Given the description of an element on the screen output the (x, y) to click on. 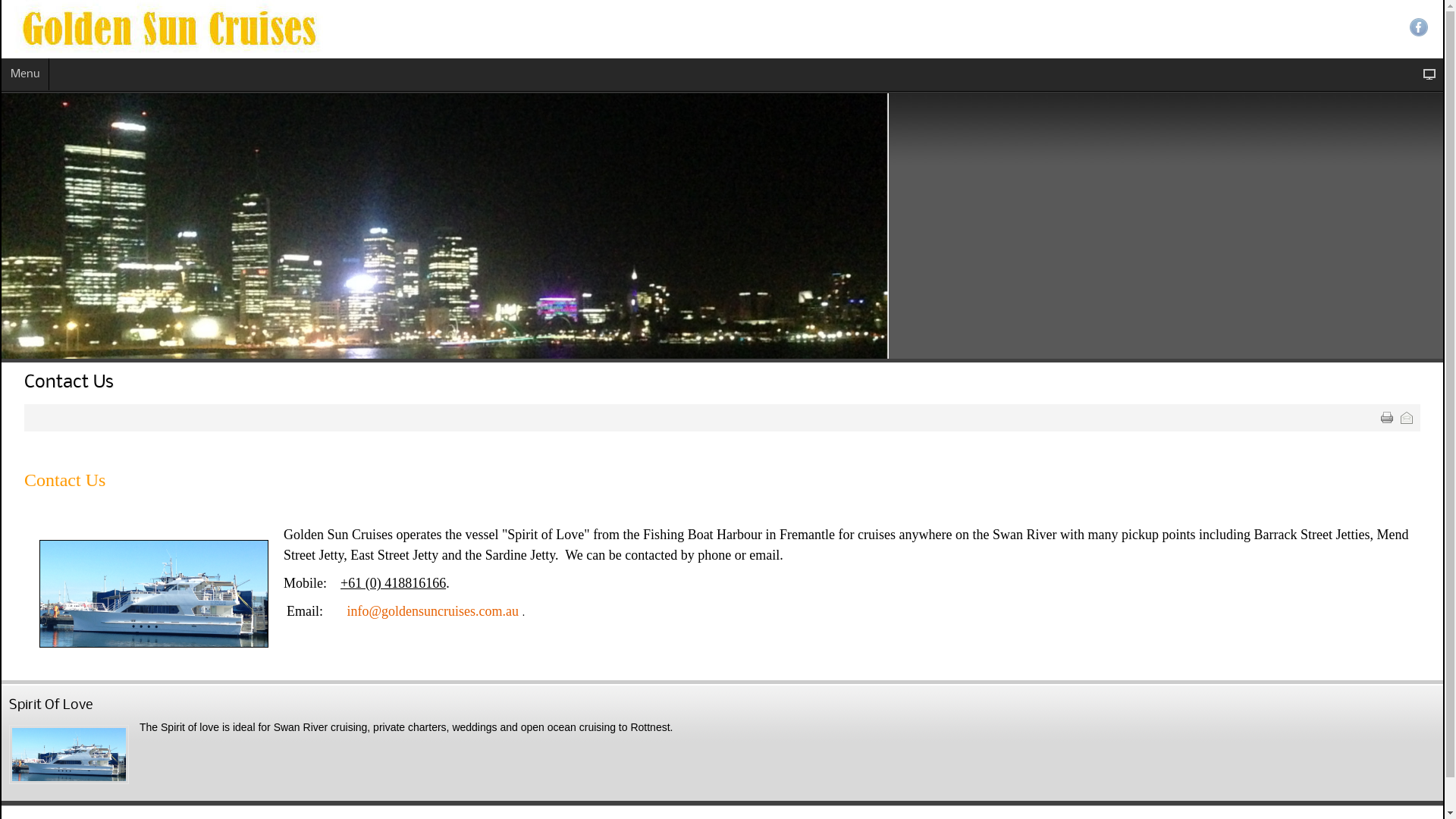
Facebook Element type: text (1418, 27)
Print Element type: hover (1386, 417)
info@goldensuncruises.com.au Element type: text (432, 610)
  Element type: text (1406, 417)
+61 (0) 418816166 Element type: text (392, 582)
Email Element type: hover (1406, 417)
GOLDEN SUN CRUISES Element type: hover (377, 27)
  Element type: text (1386, 417)
